Given the description of an element on the screen output the (x, y) to click on. 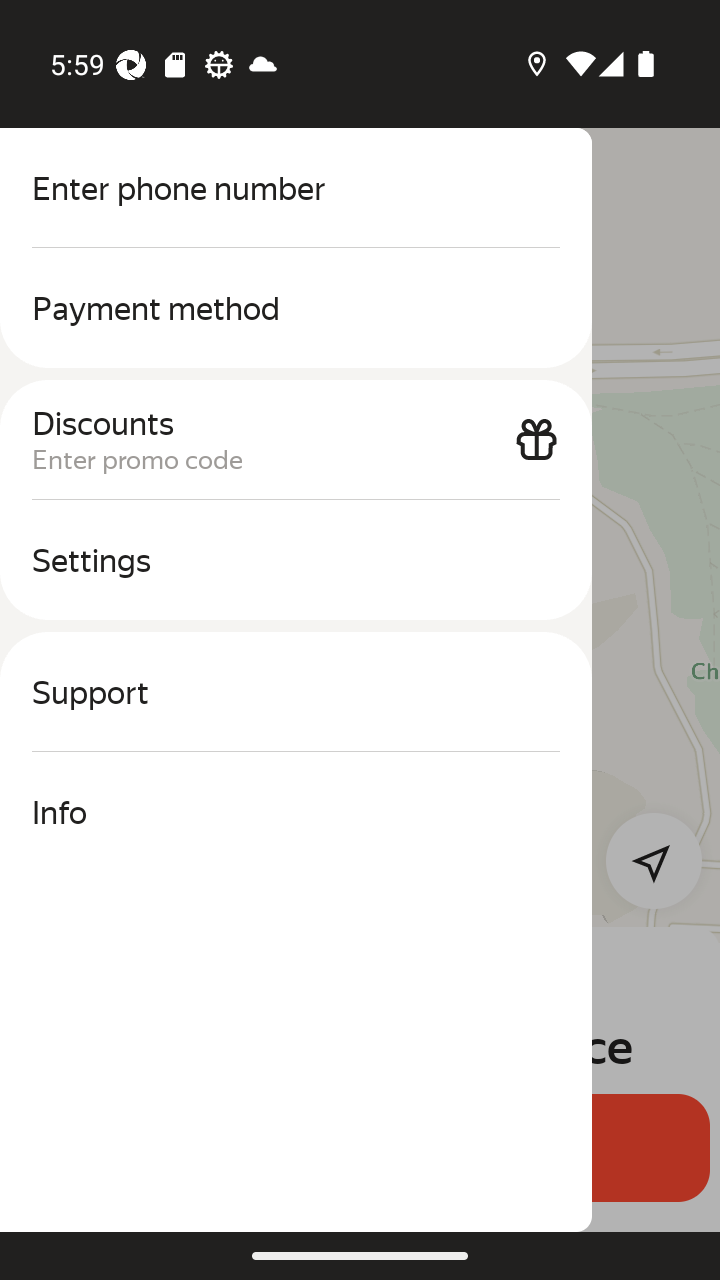
Enter phone number (295, 188)
Payment method (295, 308)
Settings (295, 559)
Support (295, 692)
Info (295, 811)
